Given the description of an element on the screen output the (x, y) to click on. 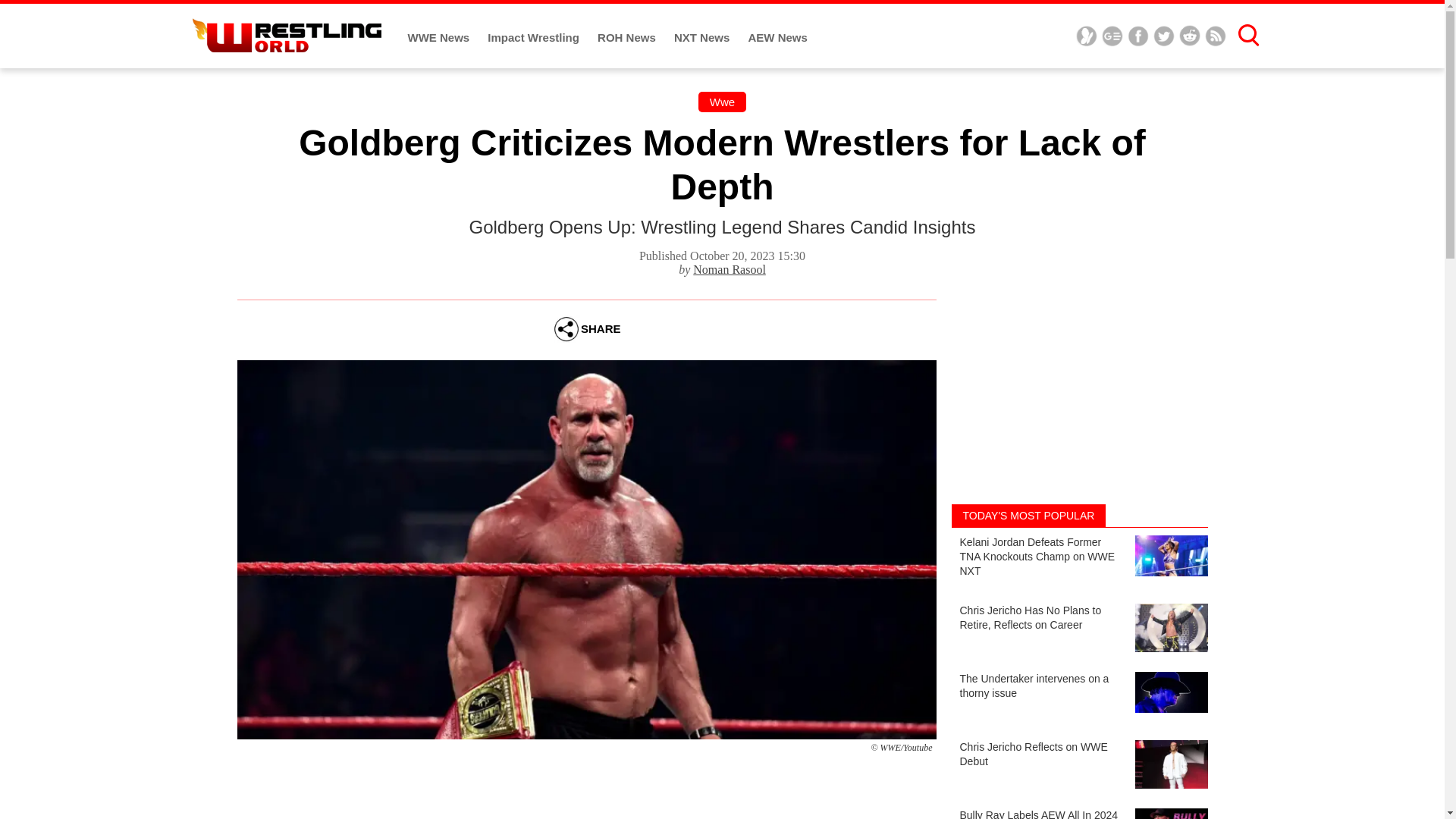
Chris Jericho Has No Plans to Retire, Reflects on Career (1078, 629)
Bully Ray Labels AEW All In 2024 Bout a 'Show-Stealer' (1078, 813)
Wwe (722, 101)
Chris Jericho Reflects on WWE Debut (1078, 766)
The Undertaker intervenes on a thorny issue (1078, 697)
NXT News (703, 37)
Impact Wrestling (534, 37)
WWE News (440, 37)
Noman Rasool (729, 269)
ROH News (627, 37)
